Given the description of an element on the screen output the (x, y) to click on. 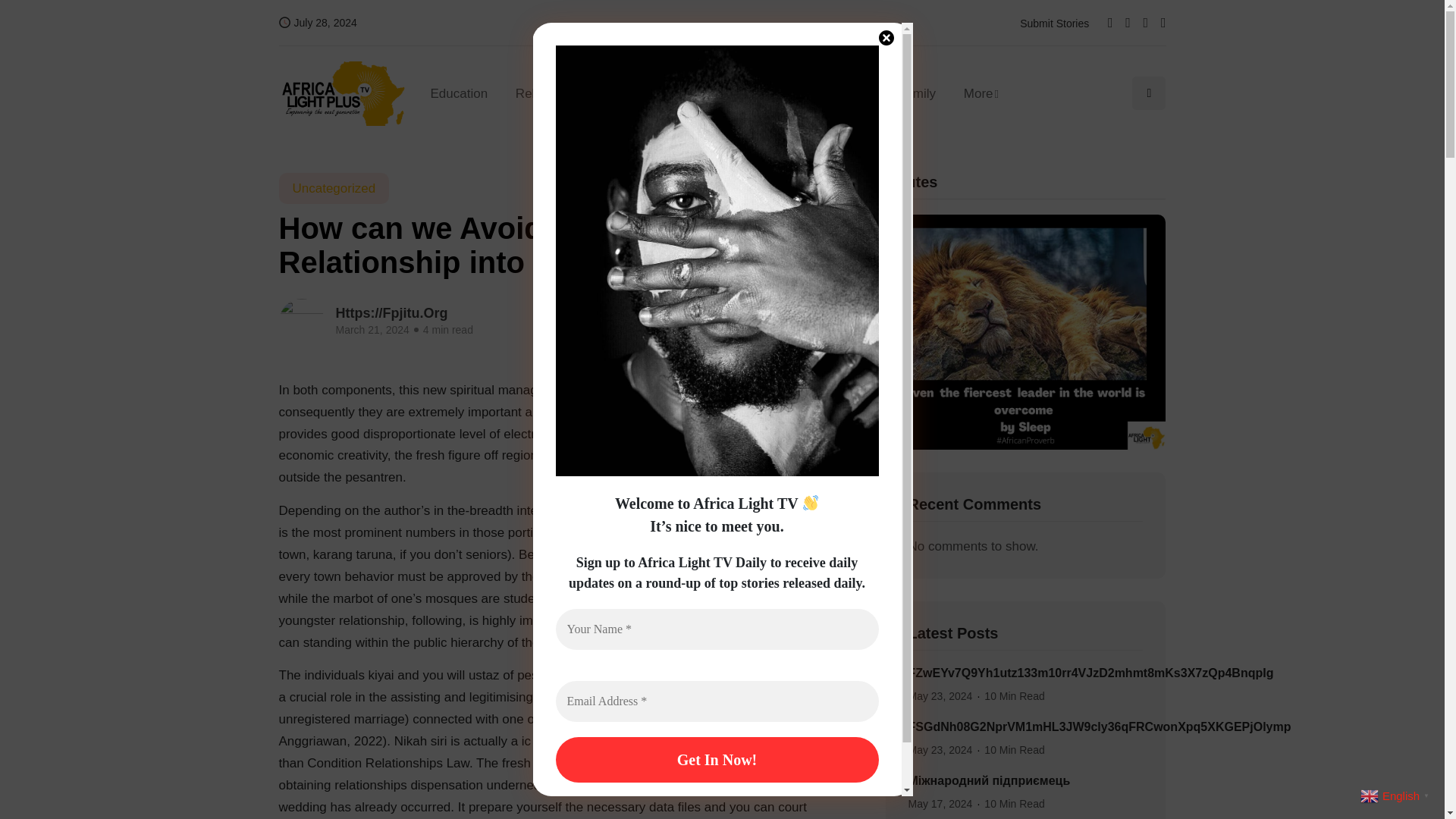
Submit Stories (1054, 23)
Business (615, 92)
Politics (849, 92)
Education (465, 92)
Email Address (715, 700)
Religion (538, 92)
Family (916, 92)
More (974, 92)
Your Name (715, 629)
Get In Now! (715, 759)
Uncategorized (334, 187)
privacy policy (780, 805)
Get In Now! (715, 759)
